Given the description of an element on the screen output the (x, y) to click on. 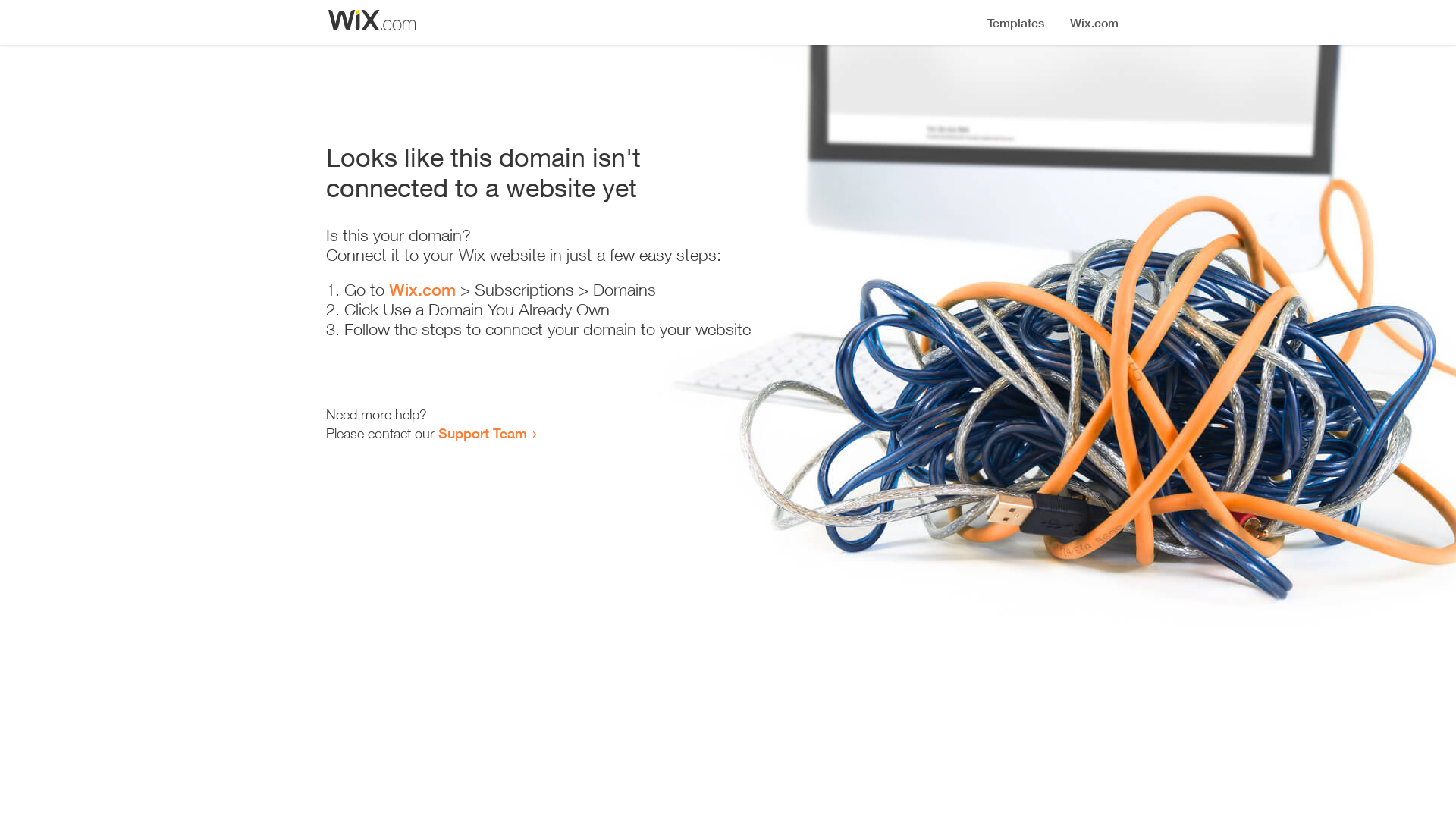
Wix.com Element type: text (422, 289)
Support Team Element type: text (482, 432)
